Given the description of an element on the screen output the (x, y) to click on. 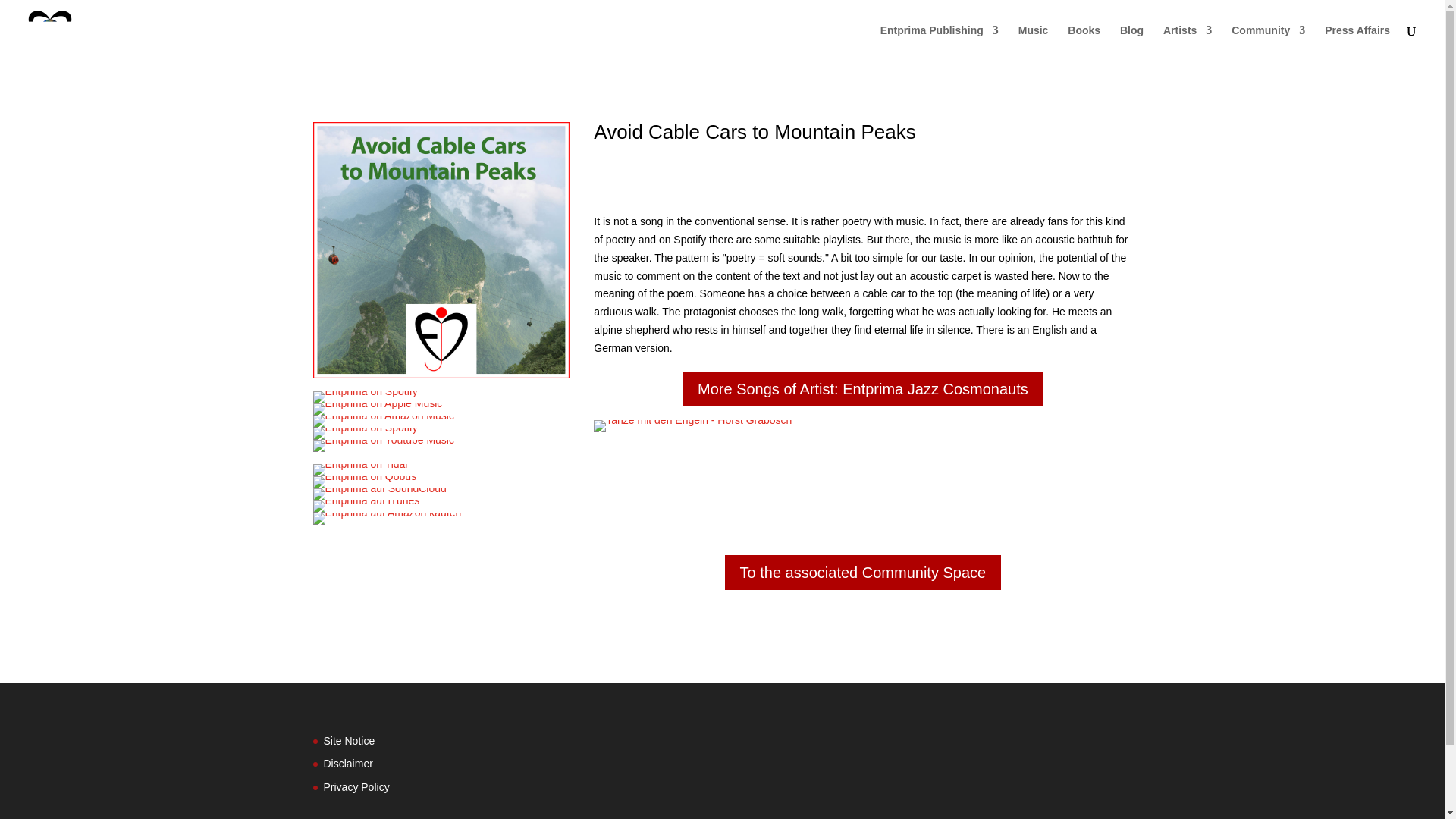
Entprima on Tidal (360, 469)
Entprima on Qobus (364, 481)
Entprima on Spotify (364, 397)
To the associated Community Space (863, 572)
Entprima auf iTunes (366, 506)
Entprima auf Amazon kaufen (387, 518)
More Songs of Artist: Entprima Jazz Cosmonauts (863, 388)
Entprima Publishing (939, 42)
Community (1267, 42)
Entprima on Amazon Music (382, 421)
Entprima on Youtube Music (382, 445)
Artists (1187, 42)
Entprima on Apple Music (377, 409)
Disclaimer (347, 763)
Tanze mit den Engeln - Horst Grabosch (693, 426)
